Given the description of an element on the screen output the (x, y) to click on. 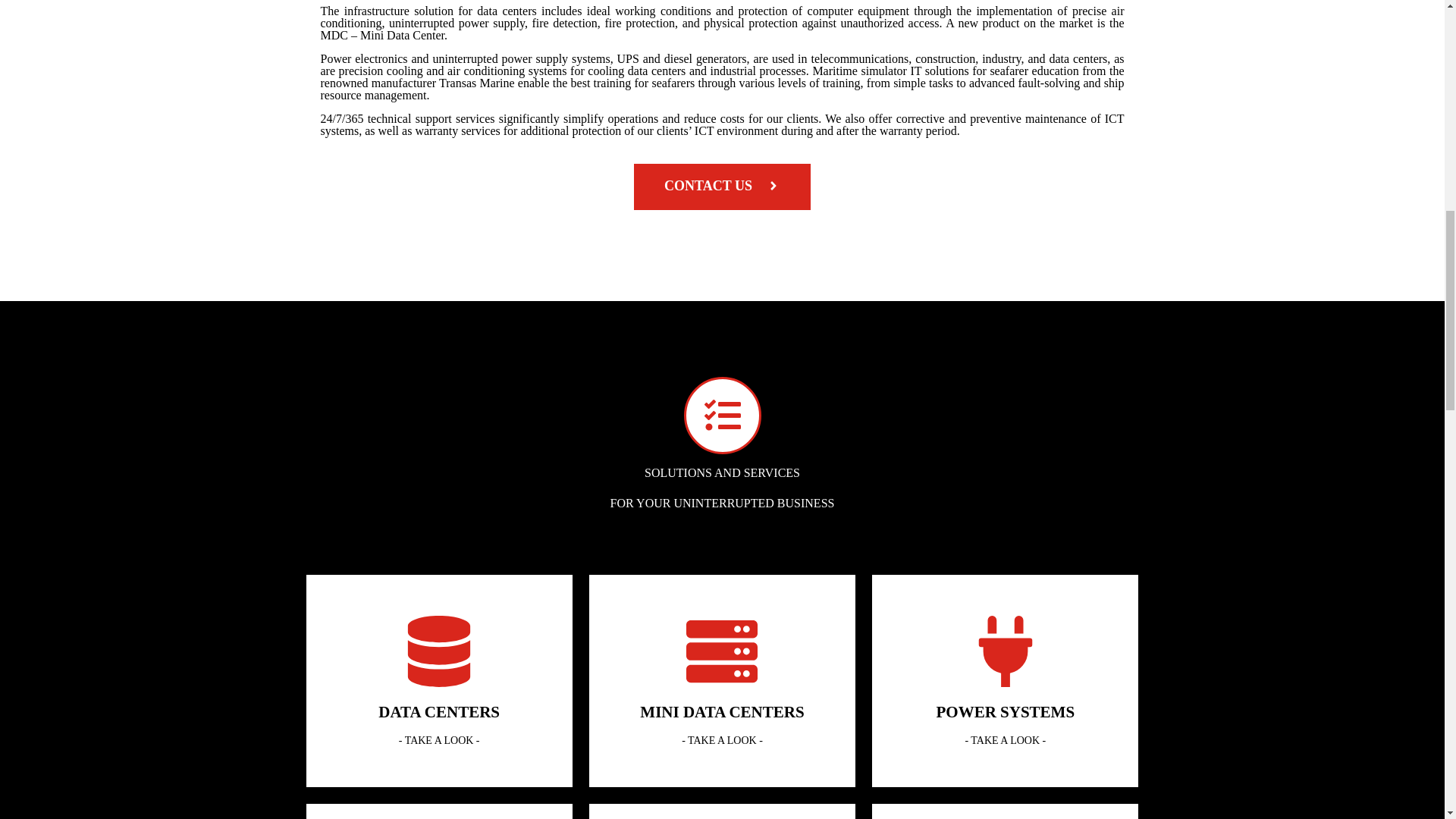
CONTACT US (721, 186)
SOLUTIONS AND SERVICES (722, 472)
